Given the description of an element on the screen output the (x, y) to click on. 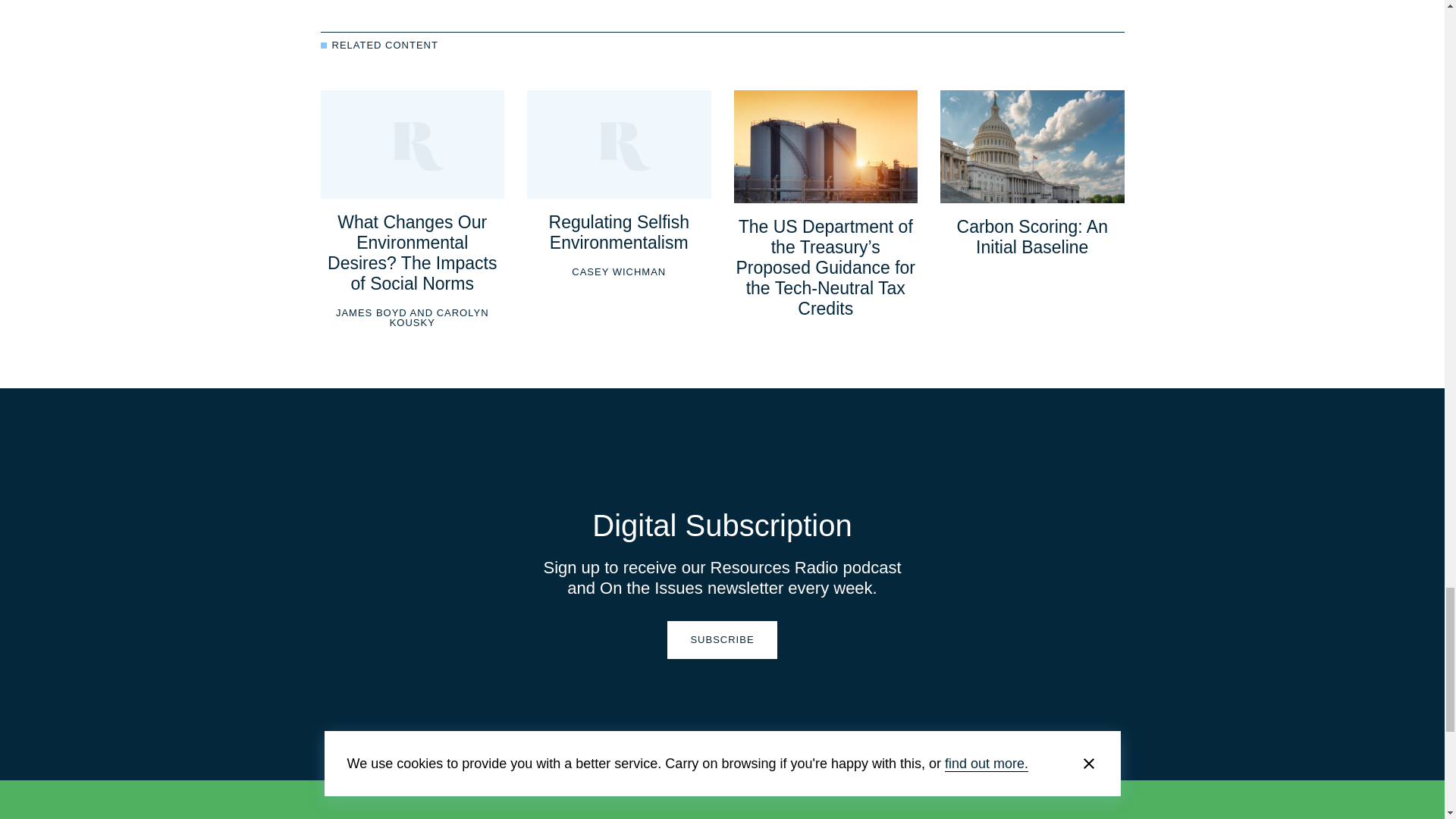
SUBSCRIBE (721, 639)
